Given the description of an element on the screen output the (x, y) to click on. 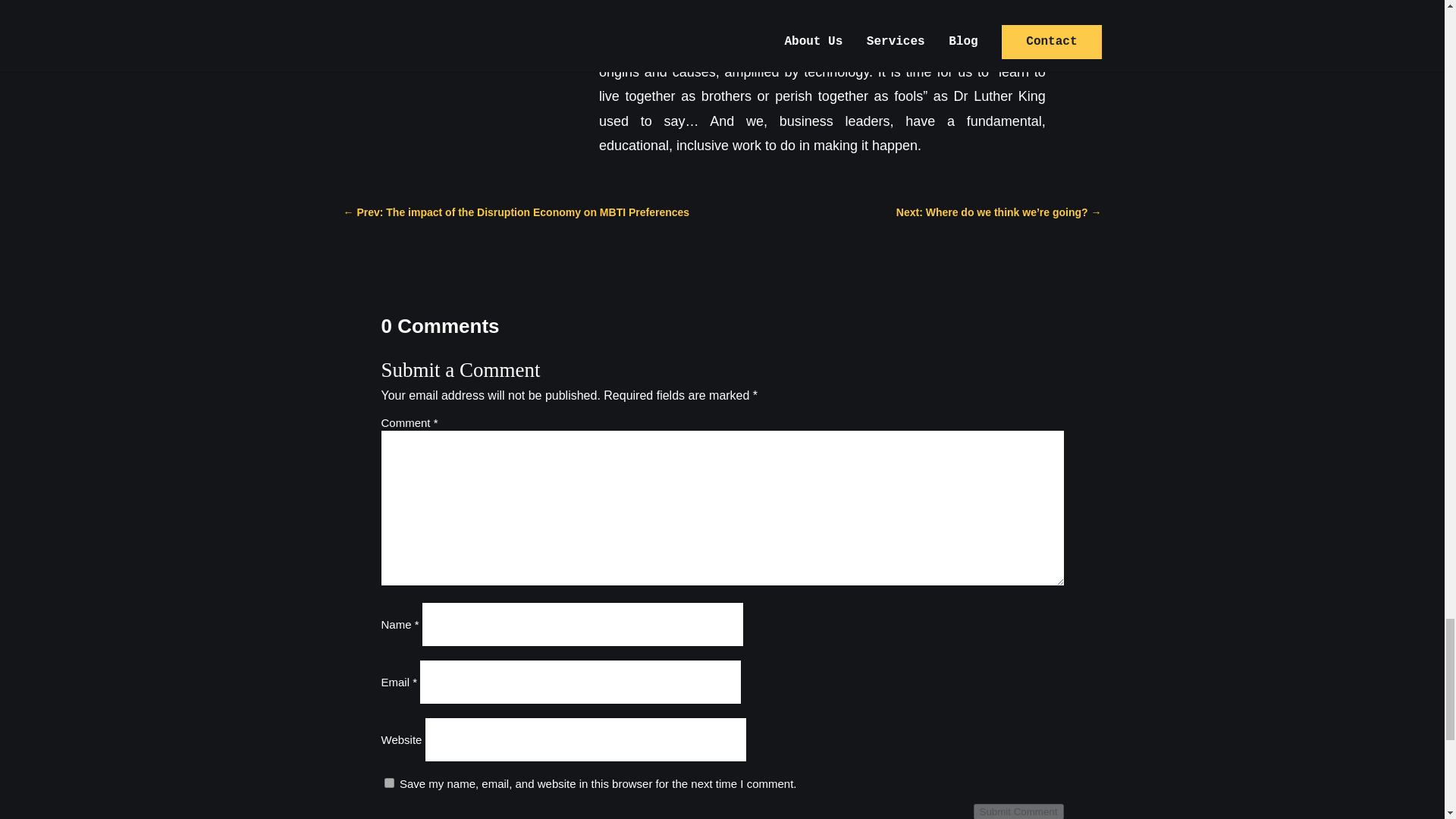
Submit Comment (1019, 811)
yes (388, 782)
